Given the description of an element on the screen output the (x, y) to click on. 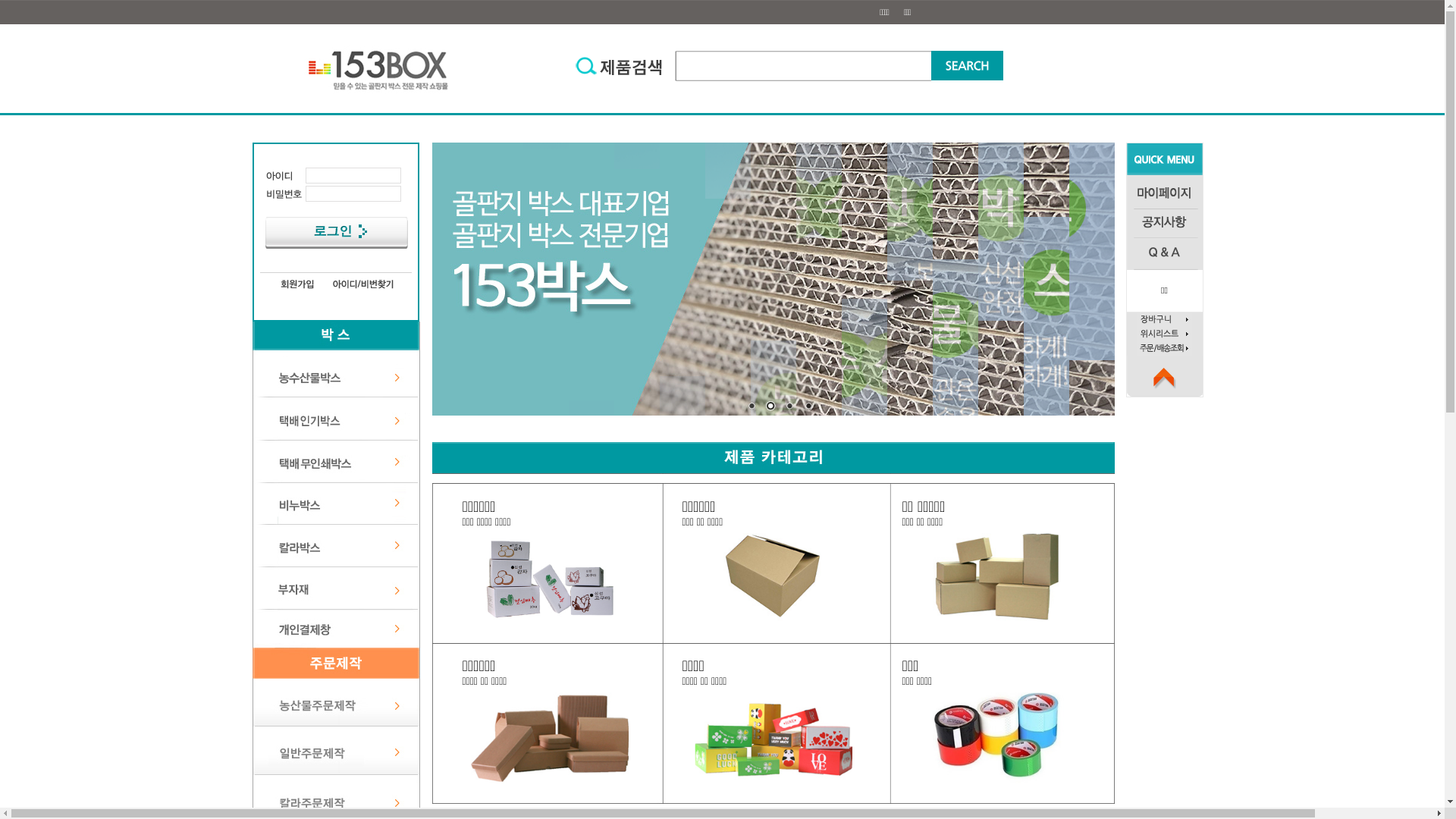
4 Element type: text (807, 406)
3 Element type: text (789, 406)
1 Element type: text (751, 406)
2 Element type: text (769, 406)
